Given the description of an element on the screen output the (x, y) to click on. 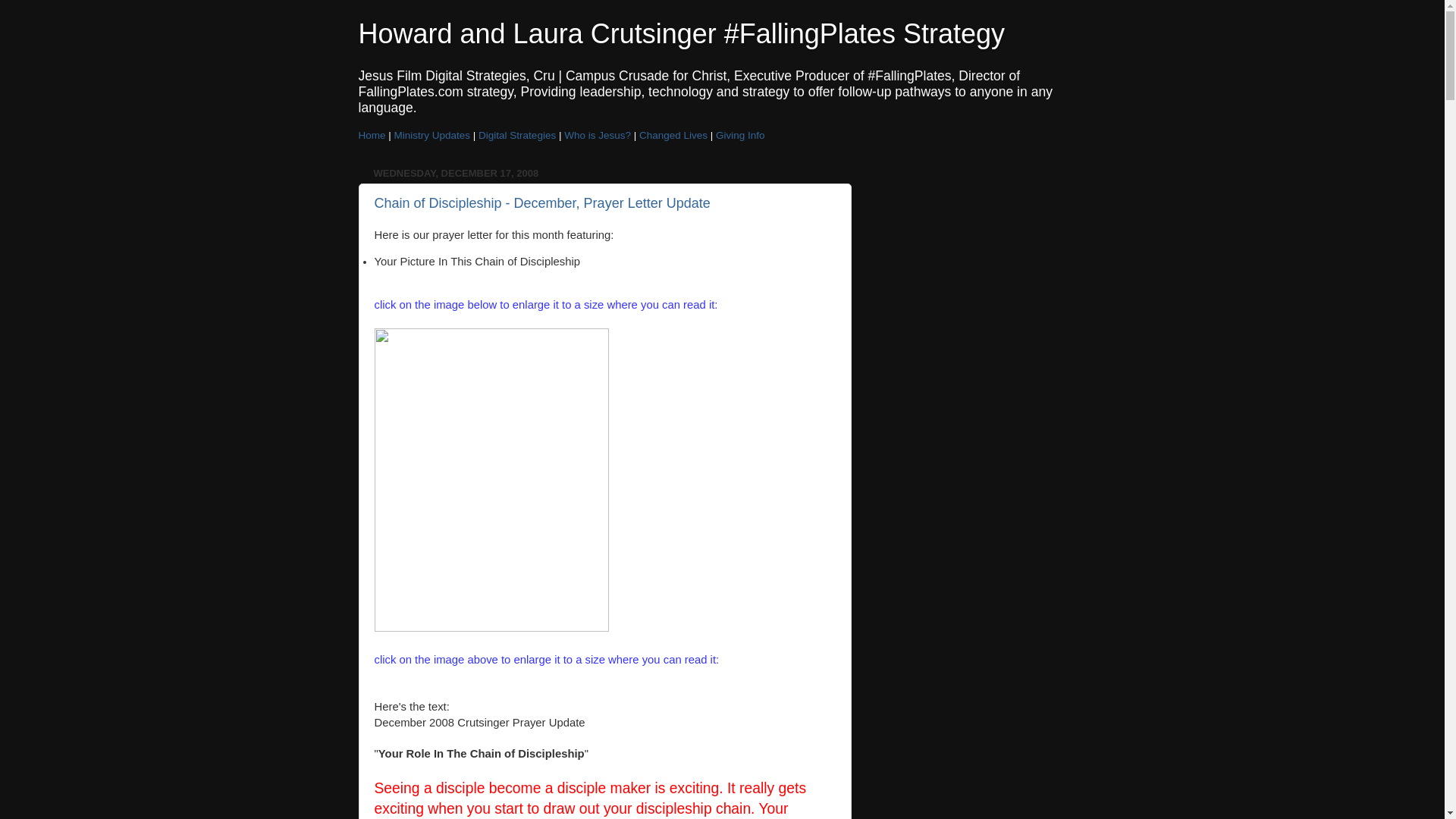
Chain of Discipleship - December, Prayer Letter Update (542, 202)
Digital Strategies (517, 134)
Ministry Updates (432, 134)
Giving Info (740, 134)
Changed Lives (673, 134)
Who is Jesus? (597, 134)
Home (371, 134)
